Given the description of an element on the screen output the (x, y) to click on. 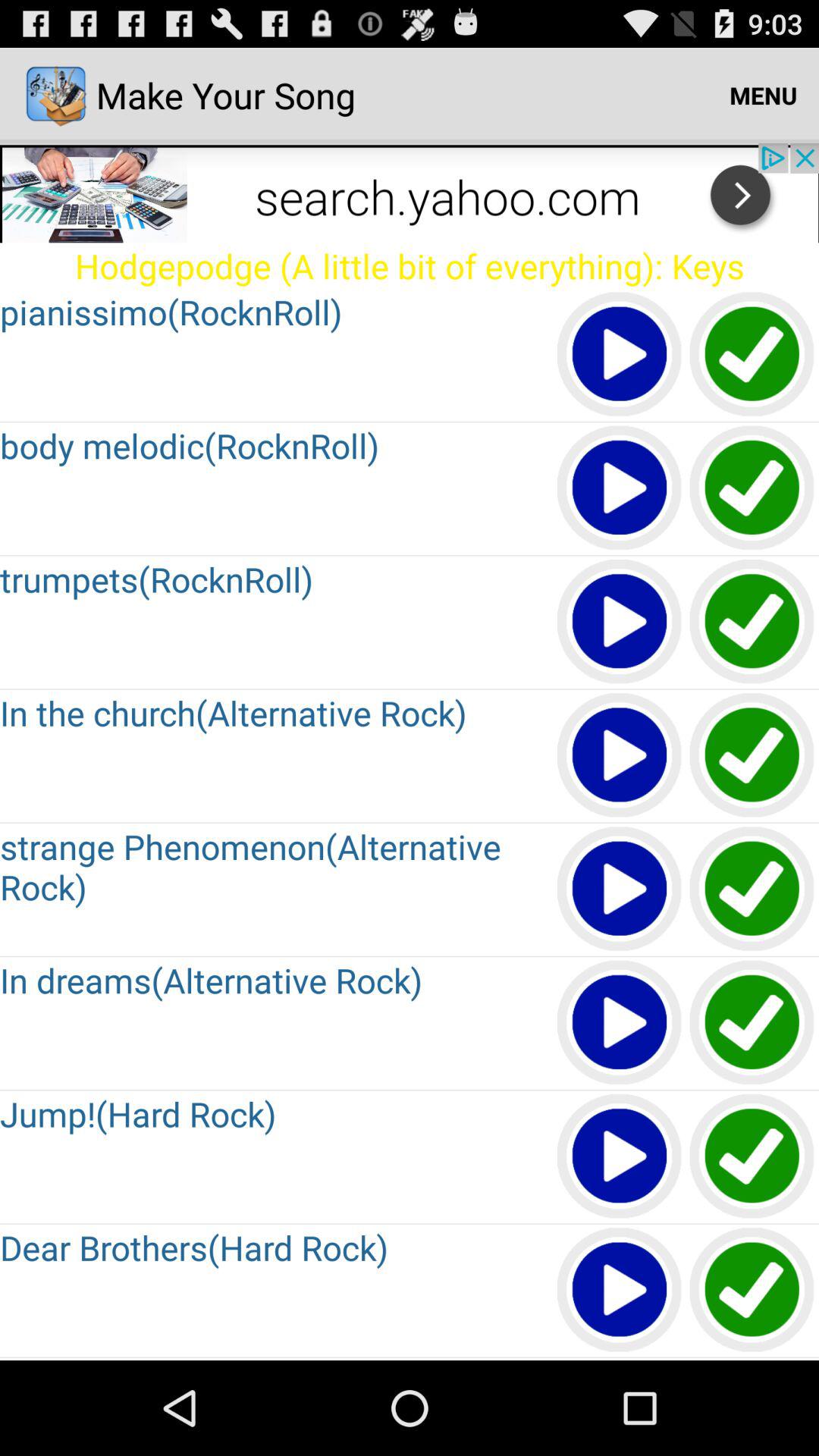
play button (619, 1290)
